Given the description of an element on the screen output the (x, y) to click on. 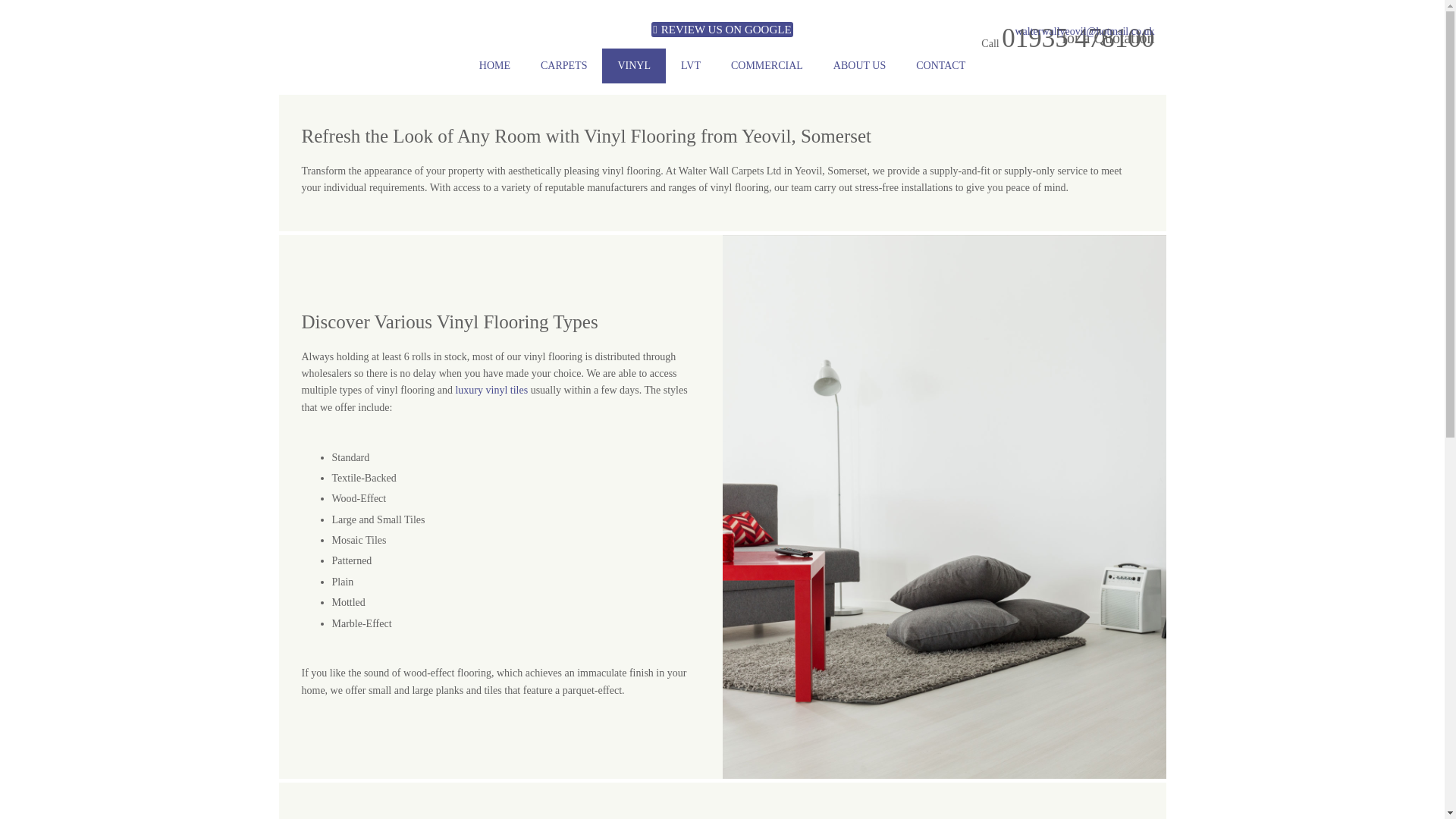
COMMERCIAL (767, 65)
ABOUT US (859, 65)
VINYL (633, 65)
REVIEW US ON GOOGLE (721, 29)
luxury vinyl tiles (490, 389)
HOME (494, 65)
Skip to content (52, 15)
CARPETS (563, 65)
CONTACT (940, 65)
Skip to content (52, 15)
